Given the description of an element on the screen output the (x, y) to click on. 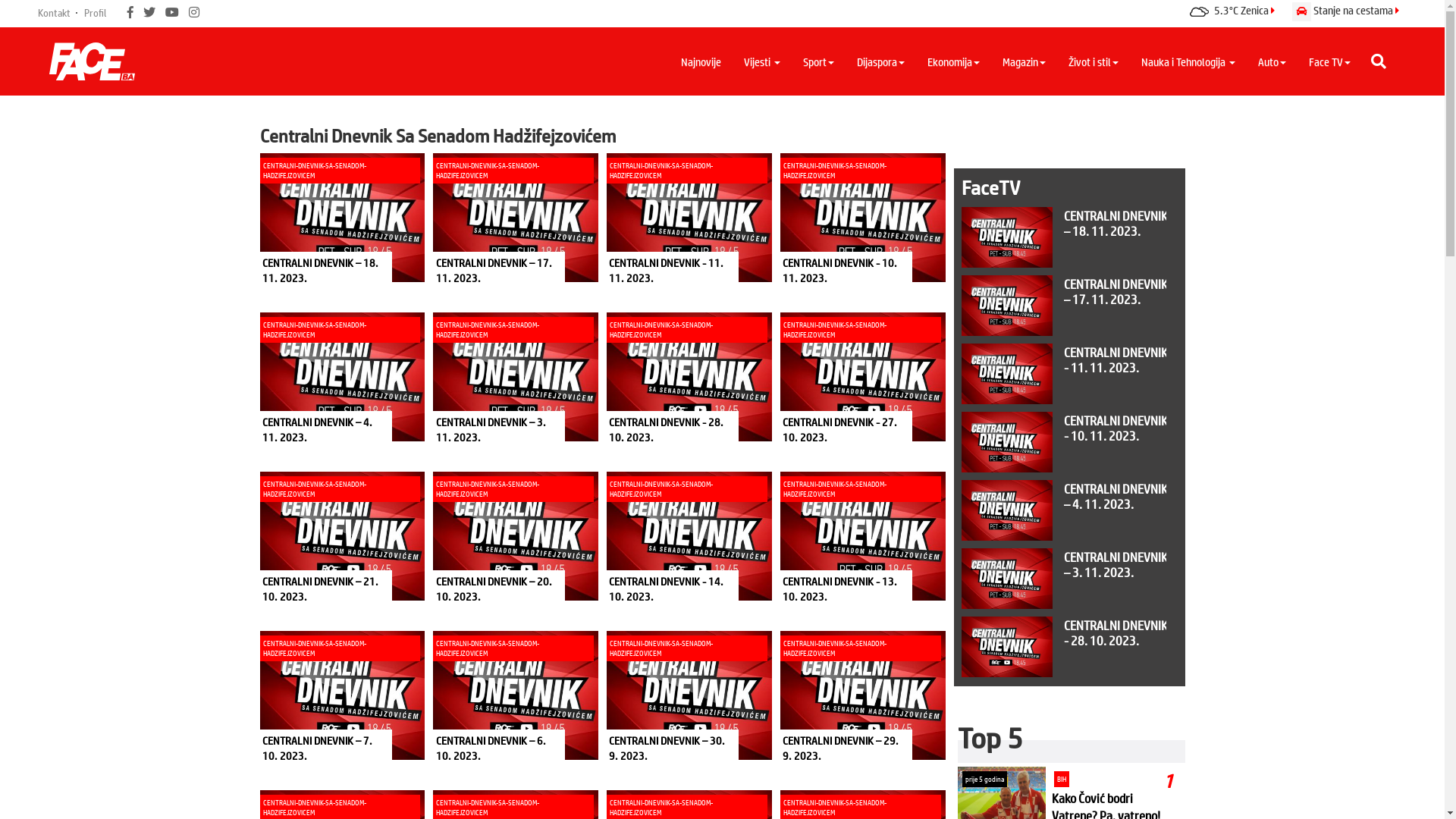
Dijaspora Element type: text (880, 61)
CENTRALNI DNEVNIK - 10. 11. 2023. Element type: text (1063, 441)
Profil Element type: text (95, 11)
Sport Element type: text (818, 61)
Auto Element type: text (1271, 61)
Magazin Element type: text (1024, 61)
CENTRALNI DNEVNIK - 28. 10. 2023. Element type: text (1063, 646)
Ekonomija Element type: text (953, 61)
Face TV Element type: text (1329, 61)
Vijesti Element type: text (761, 61)
CENTRALNI DNEVNIK - 27. 10. 2023. Element type: text (1063, 714)
Najnovije Element type: text (700, 61)
Nauka i Tehnologija Element type: text (1187, 61)
CENTRALNI DNEVNIK - 11. 11. 2023. Element type: text (1063, 373)
Kontakt Element type: text (53, 11)
Stanje na cestama Element type: text (1345, 7)
